Given the description of an element on the screen output the (x, y) to click on. 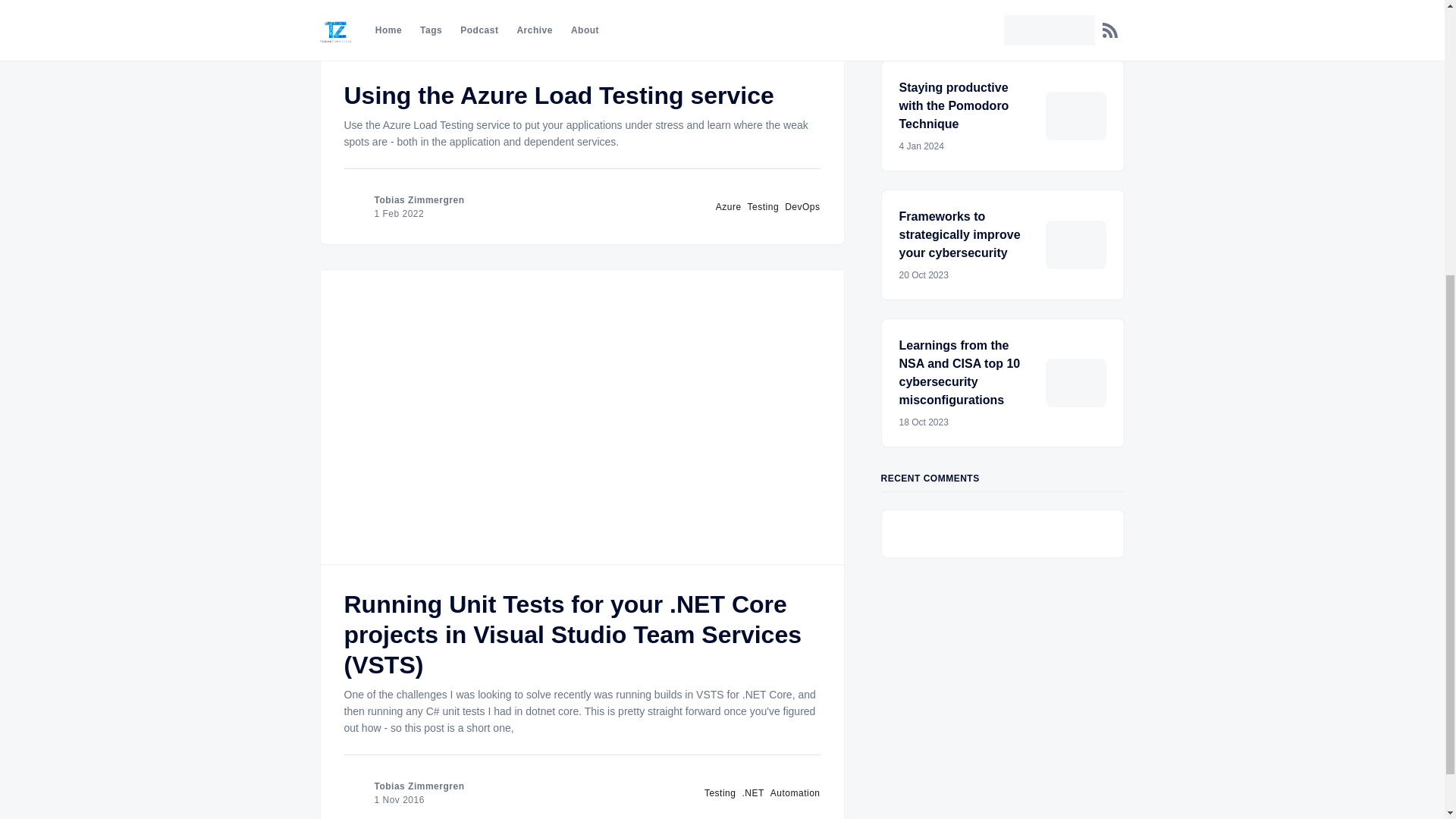
Testing (720, 792)
Azure (728, 206)
Using the Azure Load Testing service (1002, 115)
Tobias Zimmergren (558, 94)
Automation (419, 786)
Tobias Zimmergren (795, 792)
.NET (419, 199)
DevOps (751, 792)
Testing (801, 206)
